Given the description of an element on the screen output the (x, y) to click on. 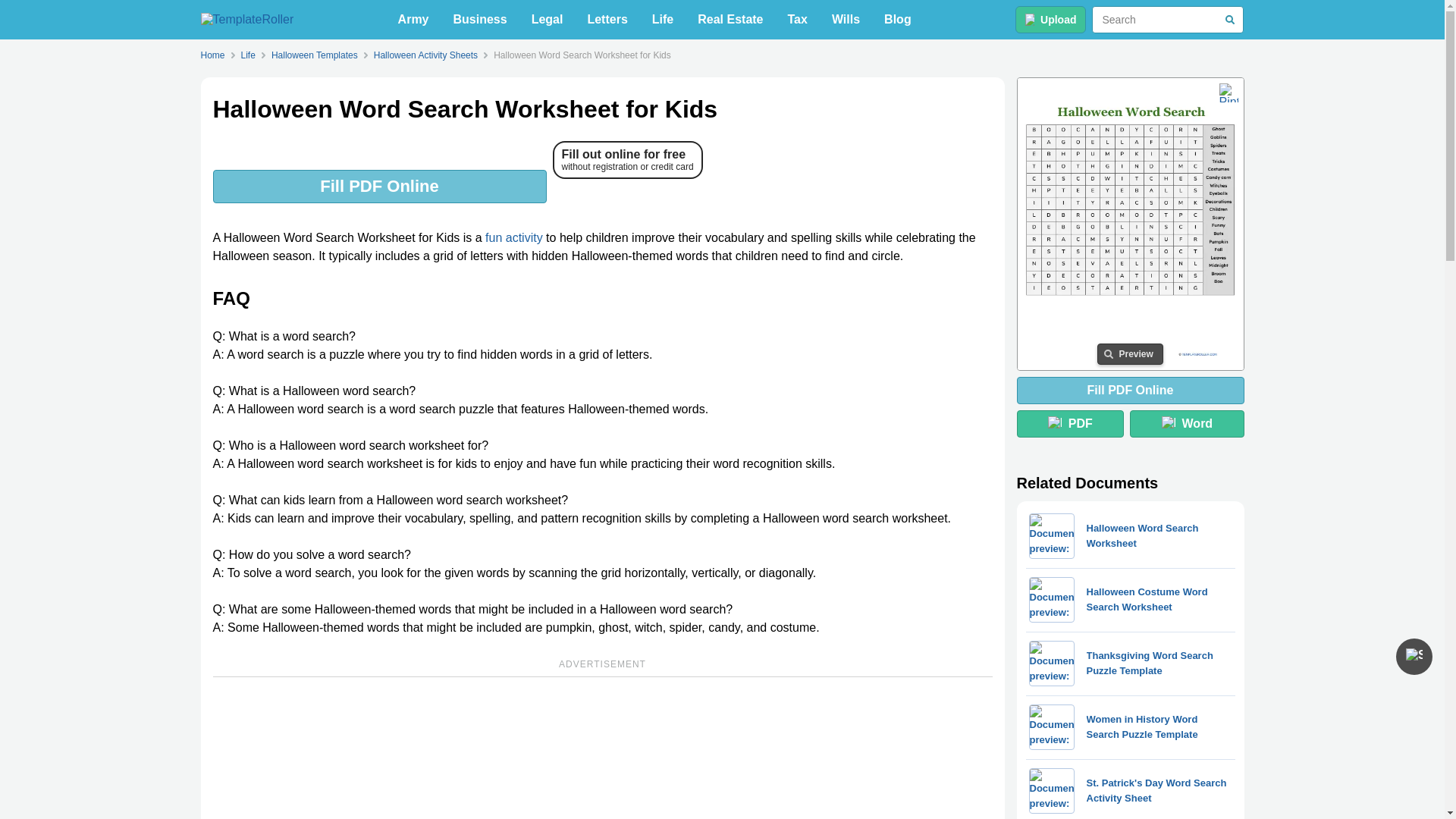
Life (248, 55)
Fill PDF Online (379, 186)
Home (215, 55)
Tax (797, 19)
Real Estate (729, 19)
Wills (845, 19)
Halloween Activity Sheets (425, 55)
fun activity (513, 237)
Army (413, 19)
Letters (607, 19)
